Given the description of an element on the screen output the (x, y) to click on. 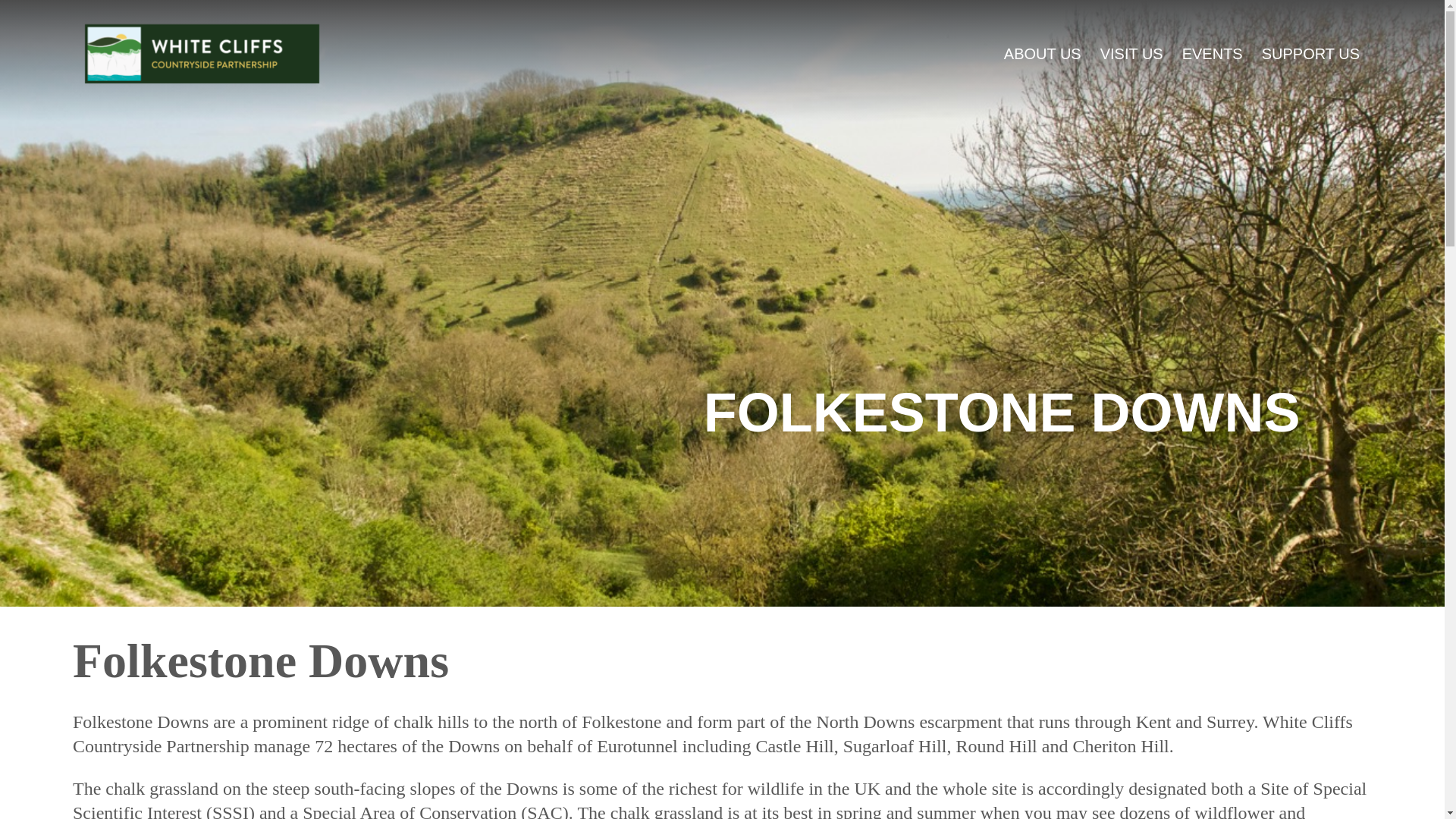
Home (210, 77)
